Given the description of an element on the screen output the (x, y) to click on. 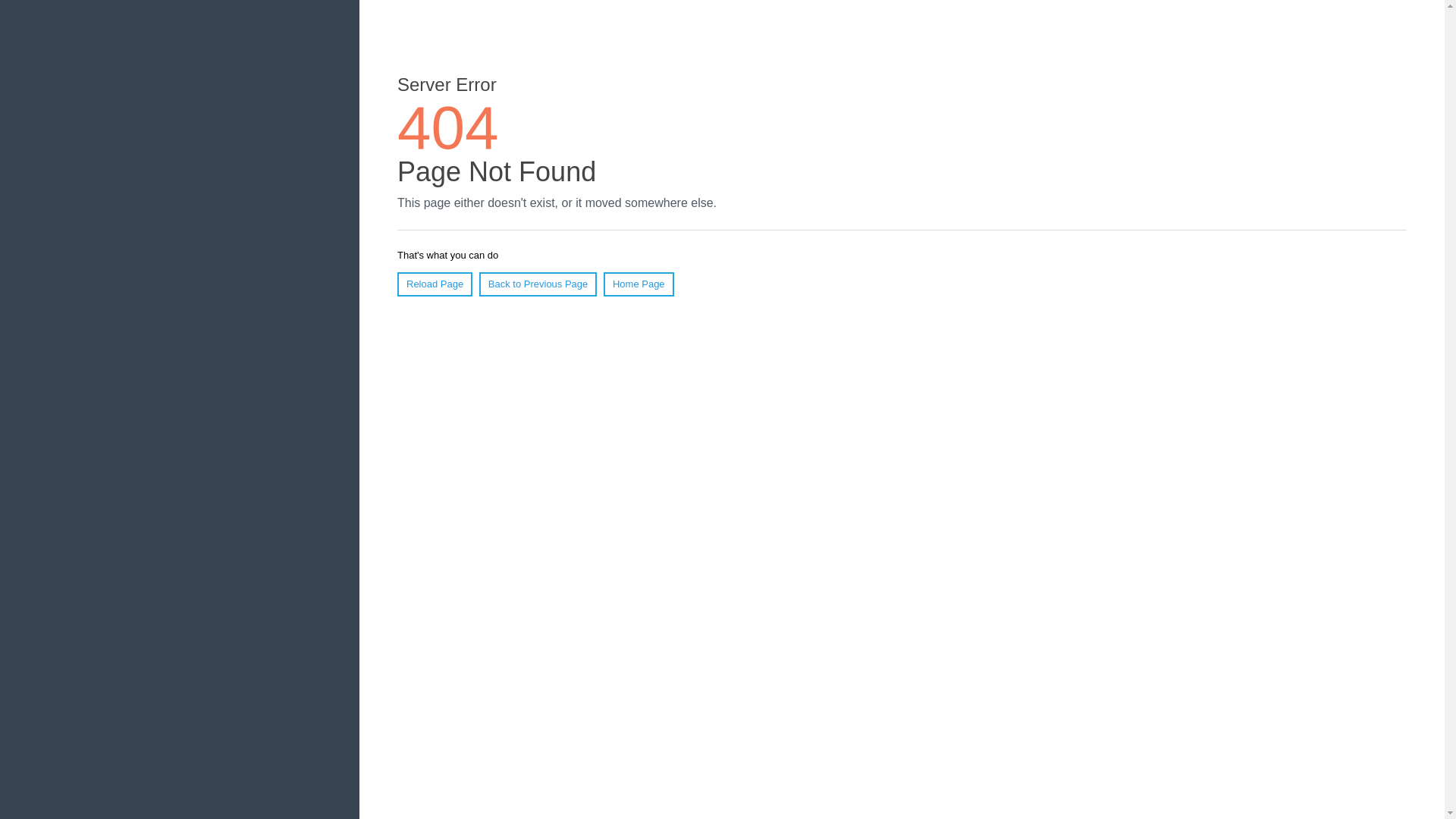
Back to Previous Page (537, 283)
Home Page (639, 283)
Reload Page (434, 283)
